Given the description of an element on the screen output the (x, y) to click on. 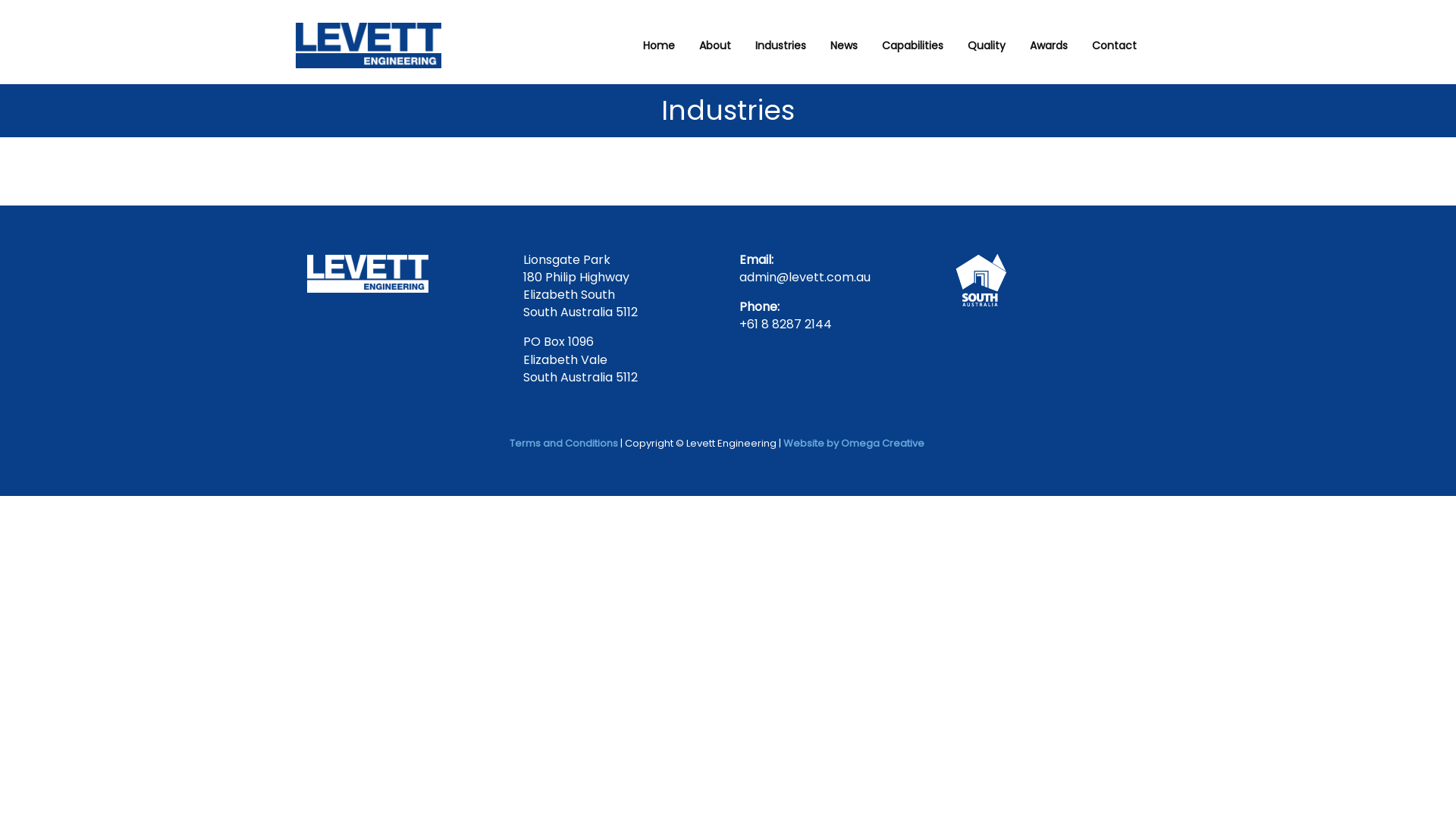
Quality Element type: text (986, 45)
Terms and Conditions Element type: text (563, 443)
Capabilities Element type: text (912, 45)
Industries Element type: text (780, 45)
Home Element type: hover (368, 45)
Awards Element type: text (1048, 45)
News Element type: text (843, 45)
Contact Element type: text (1113, 45)
Website by Omega Creative Element type: text (852, 443)
About Element type: text (715, 45)
Levett Engineering Element type: hover (367, 273)
Home Element type: text (658, 45)
